Given the description of an element on the screen output the (x, y) to click on. 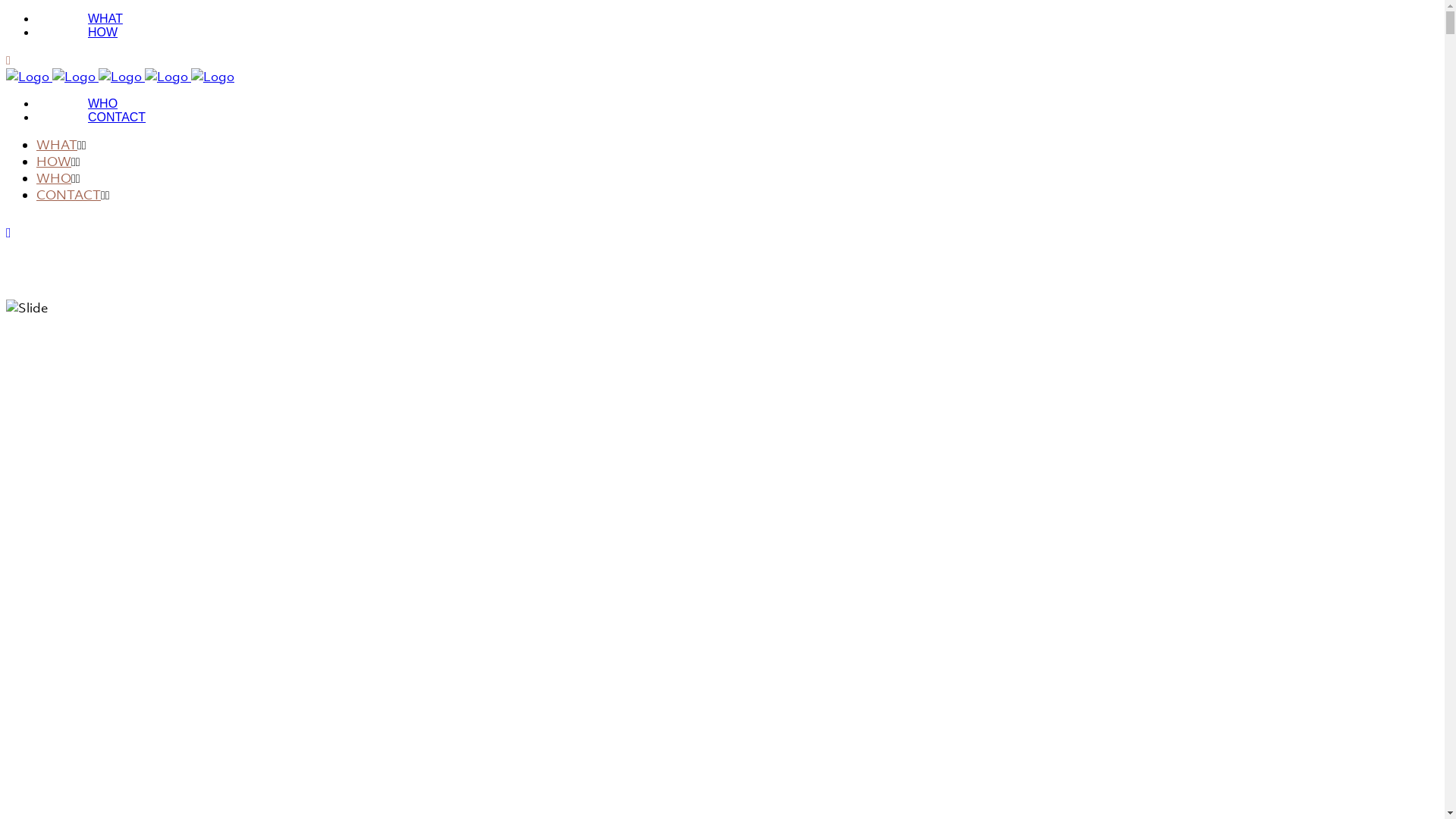
WHO Element type: text (102, 103)
WHAT Element type: text (56, 144)
HOW Element type: text (102, 31)
WHAT Element type: text (105, 18)
WHO Element type: text (53, 177)
CONTACT Element type: text (116, 116)
HOW Element type: text (53, 161)
CONTACT Element type: text (68, 194)
